Given the description of an element on the screen output the (x, y) to click on. 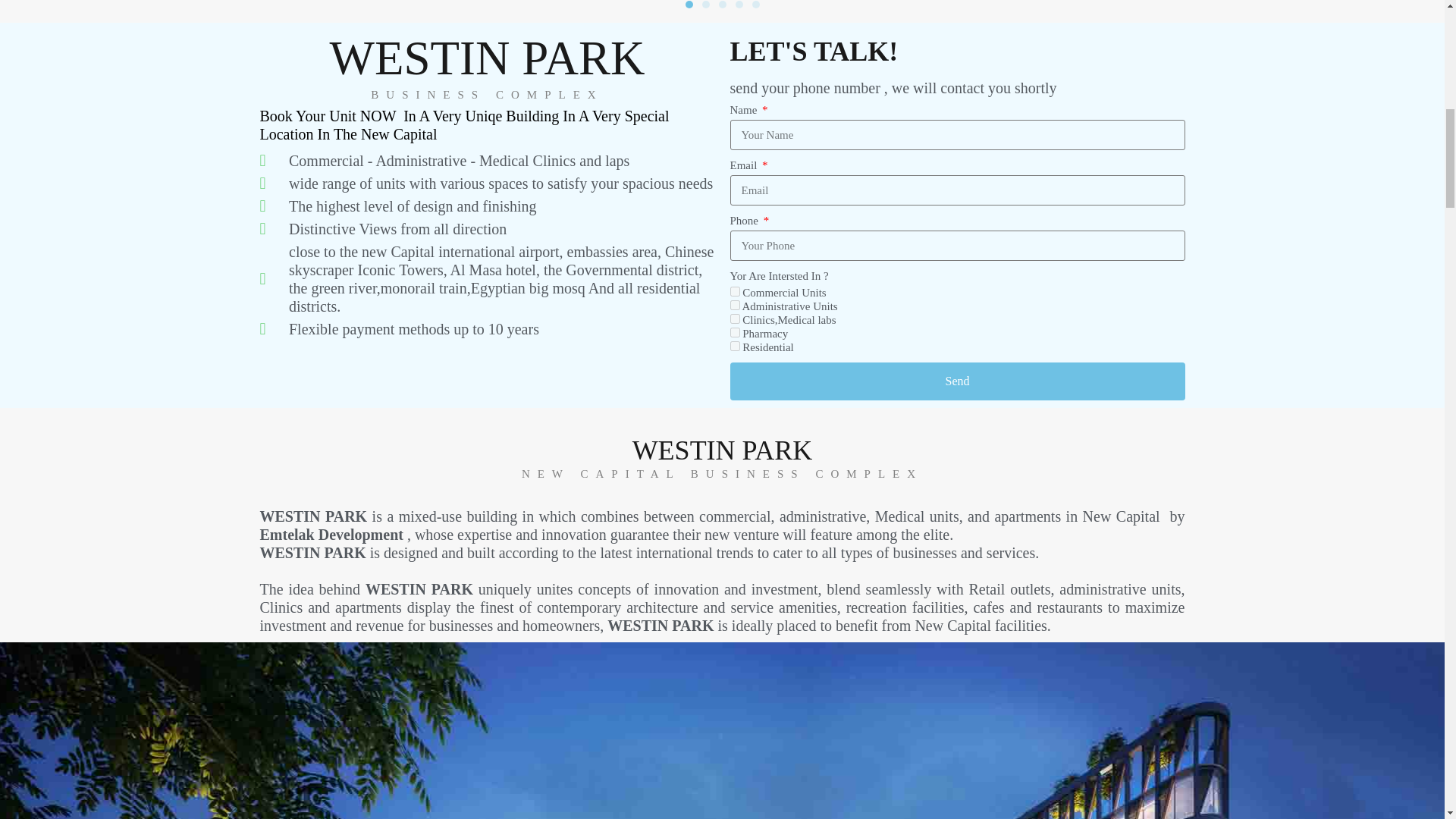
Administrative Units (734, 305)
Residential (734, 346)
Clinics,Medical labs (734, 318)
Commercial Units (734, 291)
Send (957, 380)
Pharmacy (734, 332)
